Given the description of an element on the screen output the (x, y) to click on. 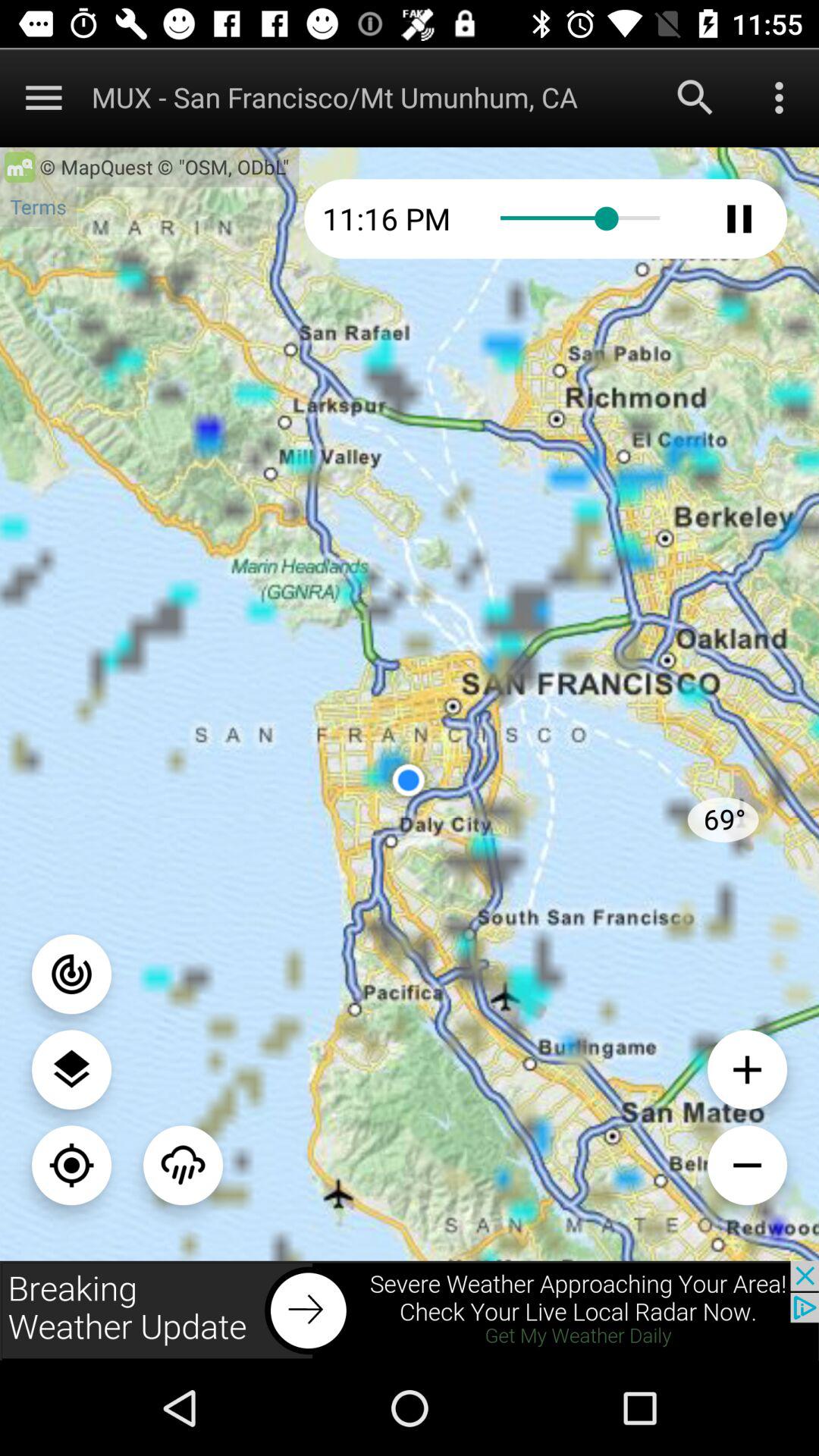
zooming (71, 1165)
